Given the description of an element on the screen output the (x, y) to click on. 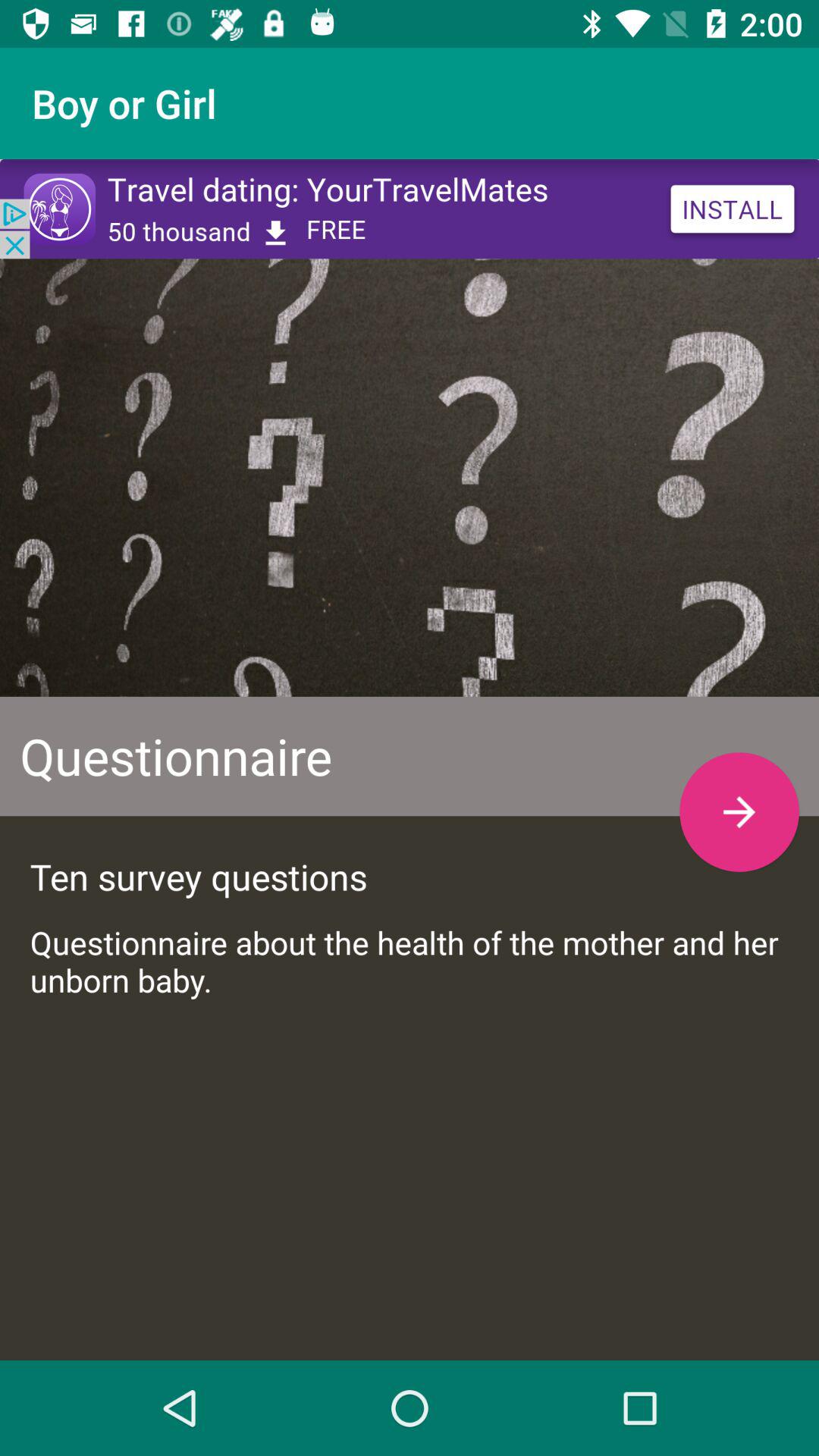
next (739, 811)
